Given the description of an element on the screen output the (x, y) to click on. 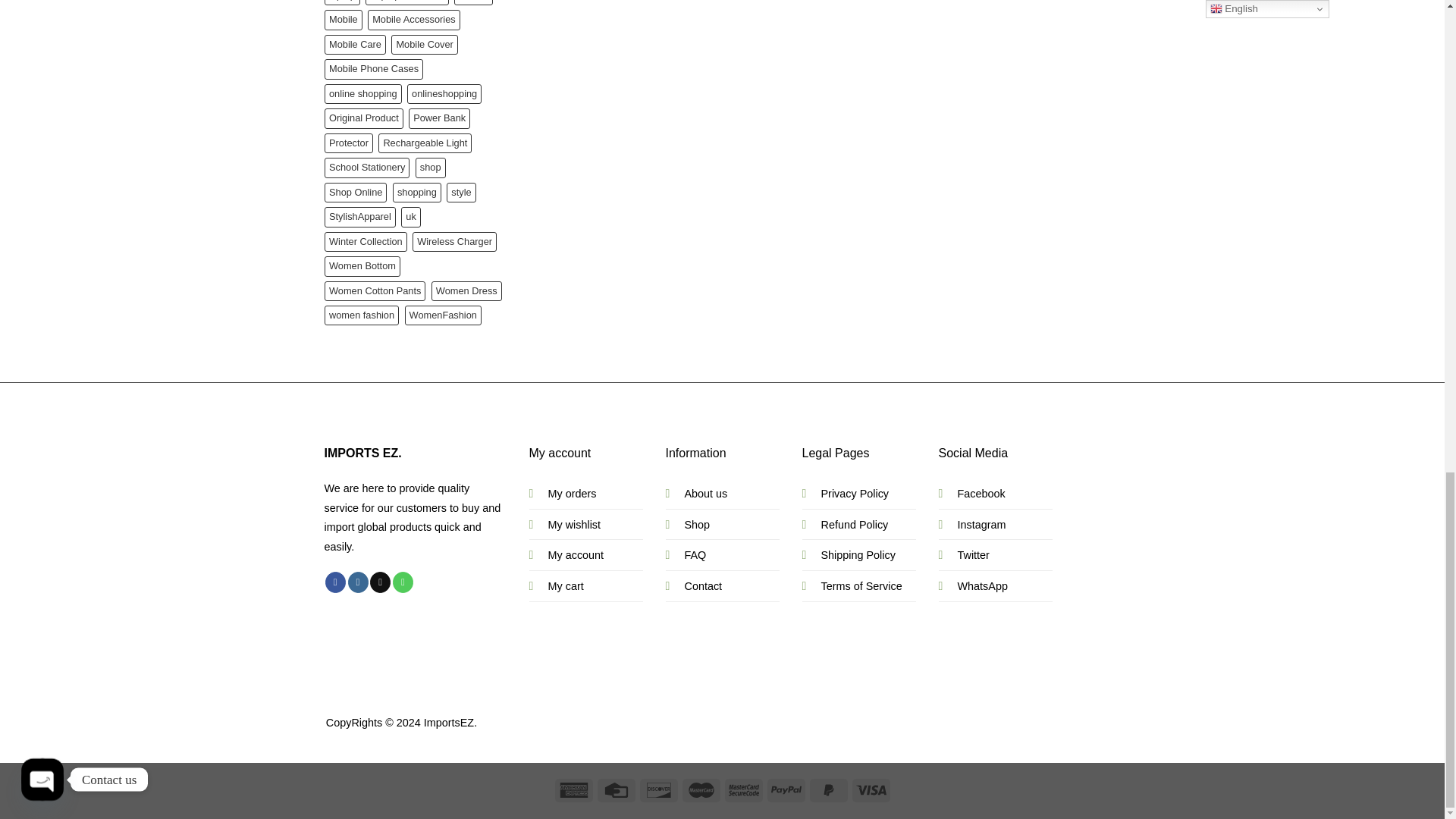
Follow on Facebook (335, 581)
Send us an email (379, 581)
Call us (403, 581)
Follow on Instagram (357, 581)
